Given the description of an element on the screen output the (x, y) to click on. 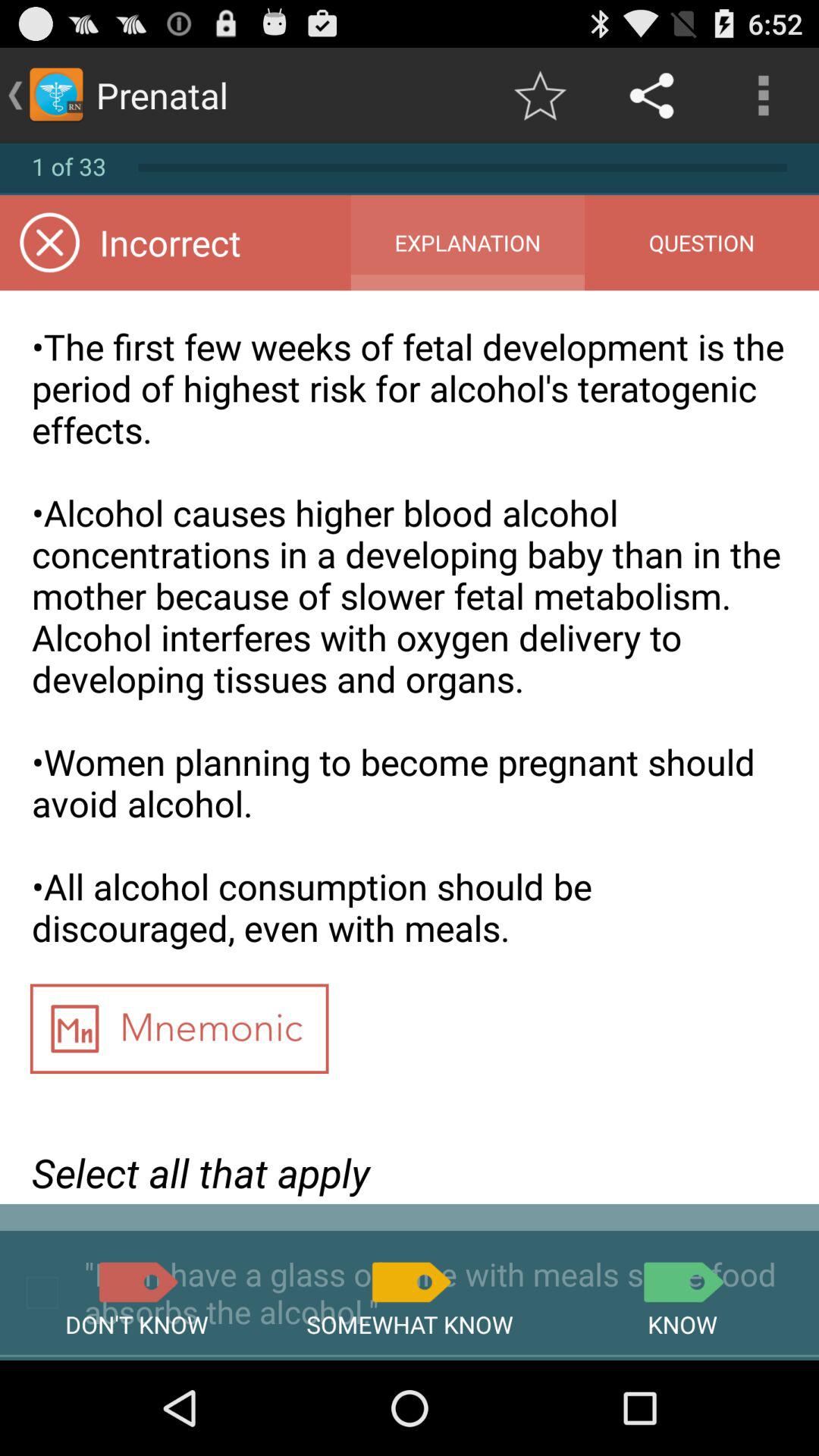
press icon to the right of the explanation button (701, 242)
